Given the description of an element on the screen output the (x, y) to click on. 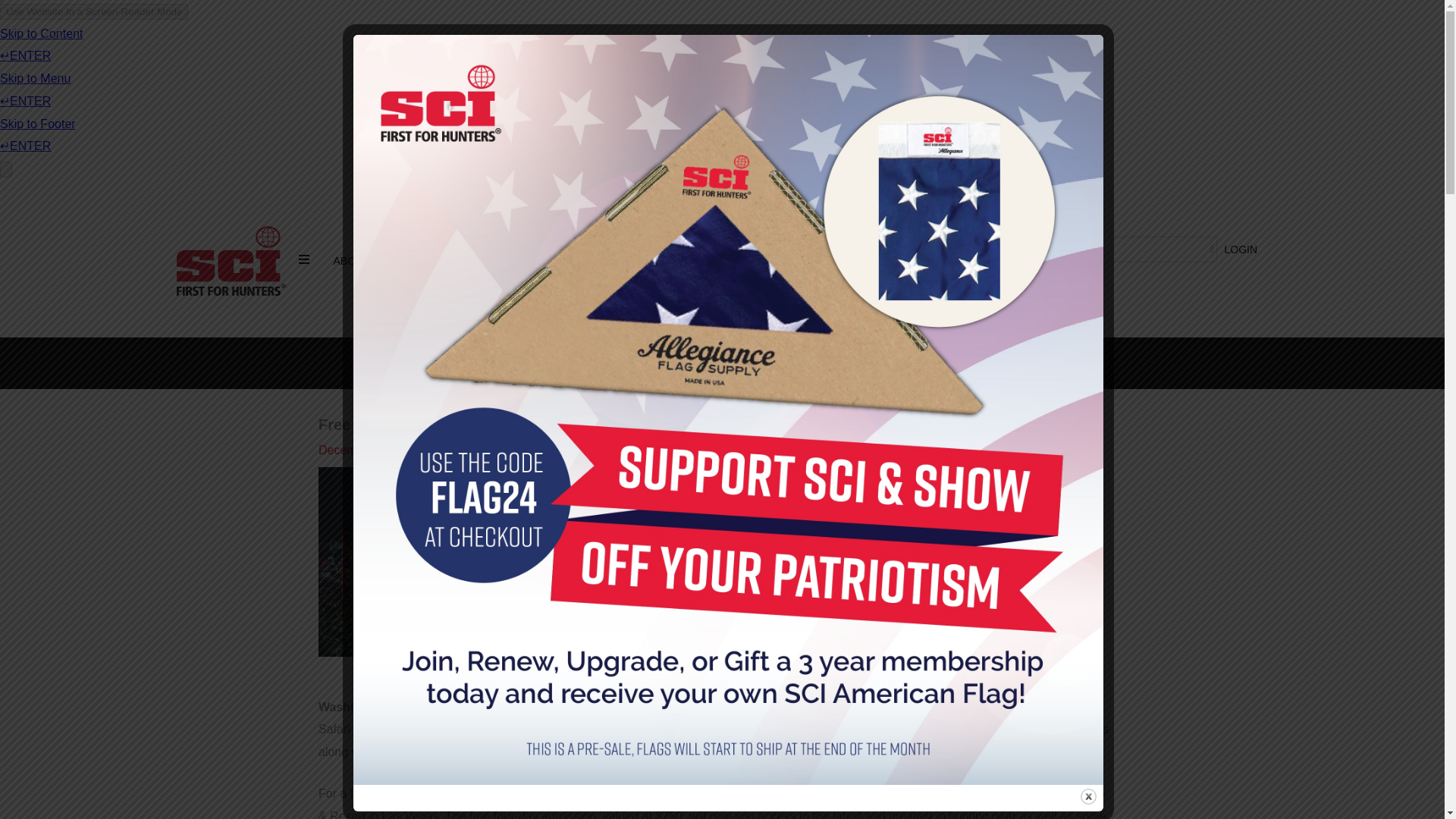
Start shopping (932, 266)
SCI Logo (230, 260)
Close (1088, 796)
